Given the description of an element on the screen output the (x, y) to click on. 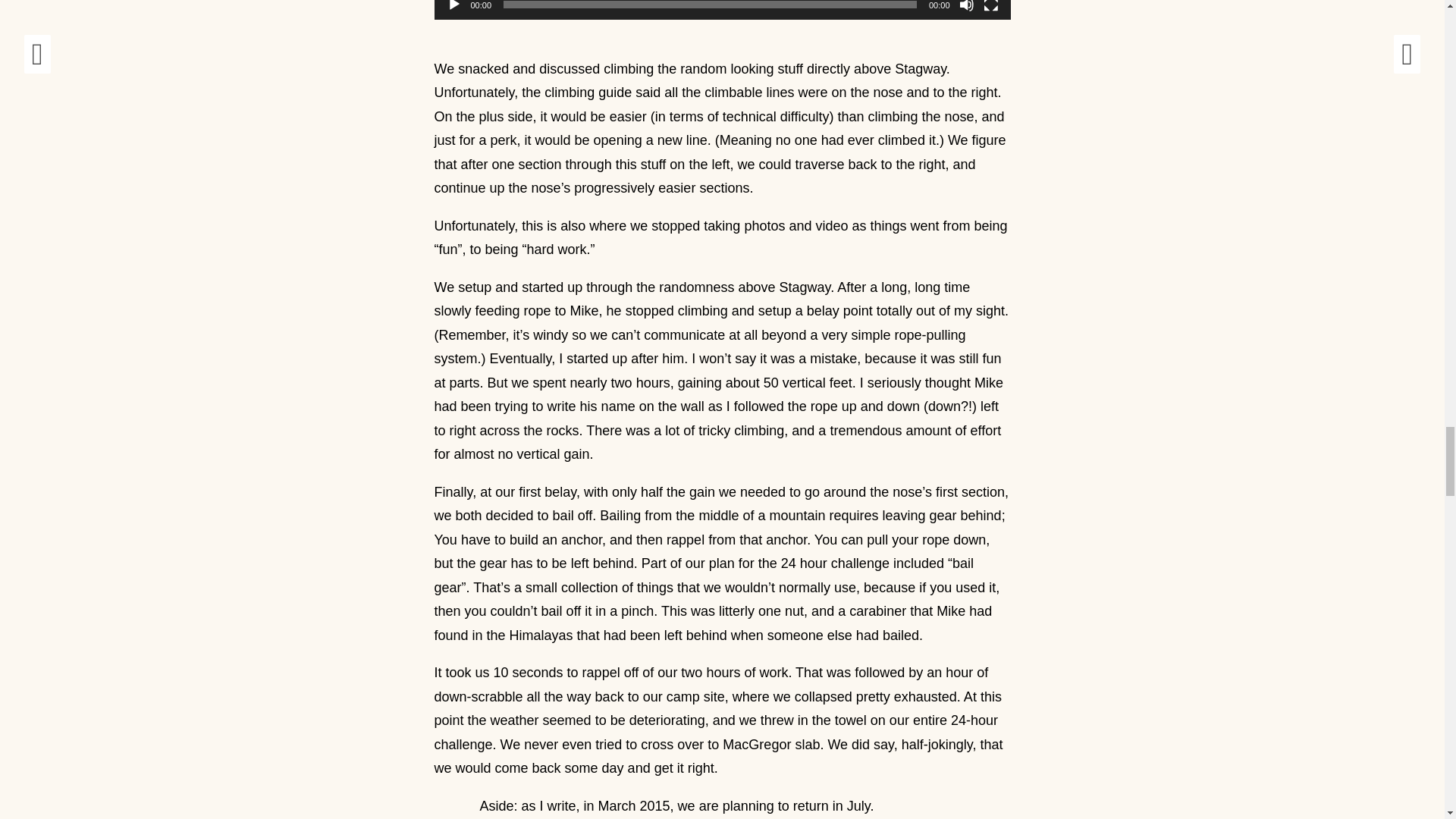
Mute (966, 6)
Play (453, 6)
Fullscreen (989, 6)
